Given the description of an element on the screen output the (x, y) to click on. 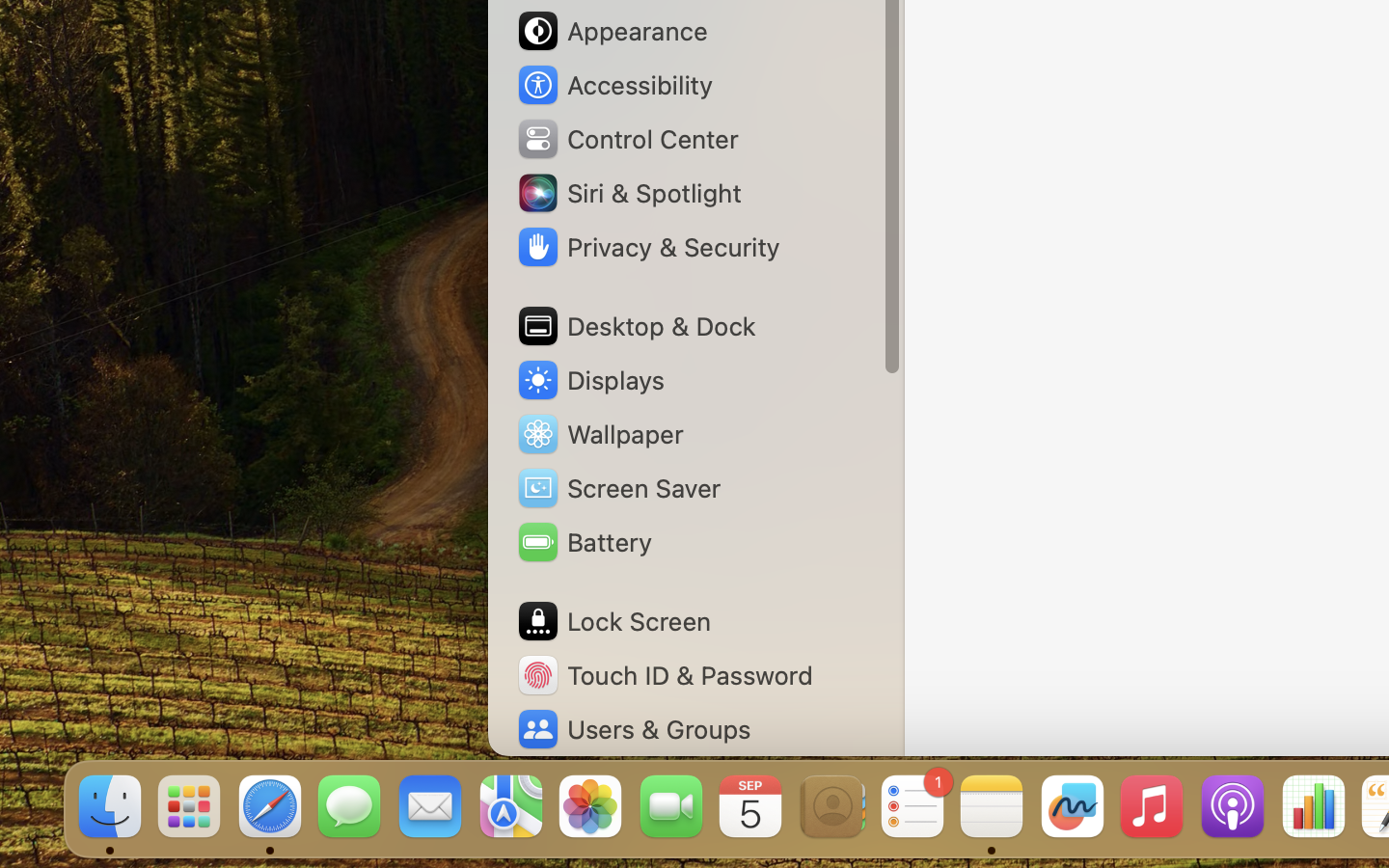
Privacy & Security Element type: AXStaticText (647, 246)
Accessibility Element type: AXStaticText (614, 84)
Screen Saver Element type: AXStaticText (618, 487)
